Given the description of an element on the screen output the (x, y) to click on. 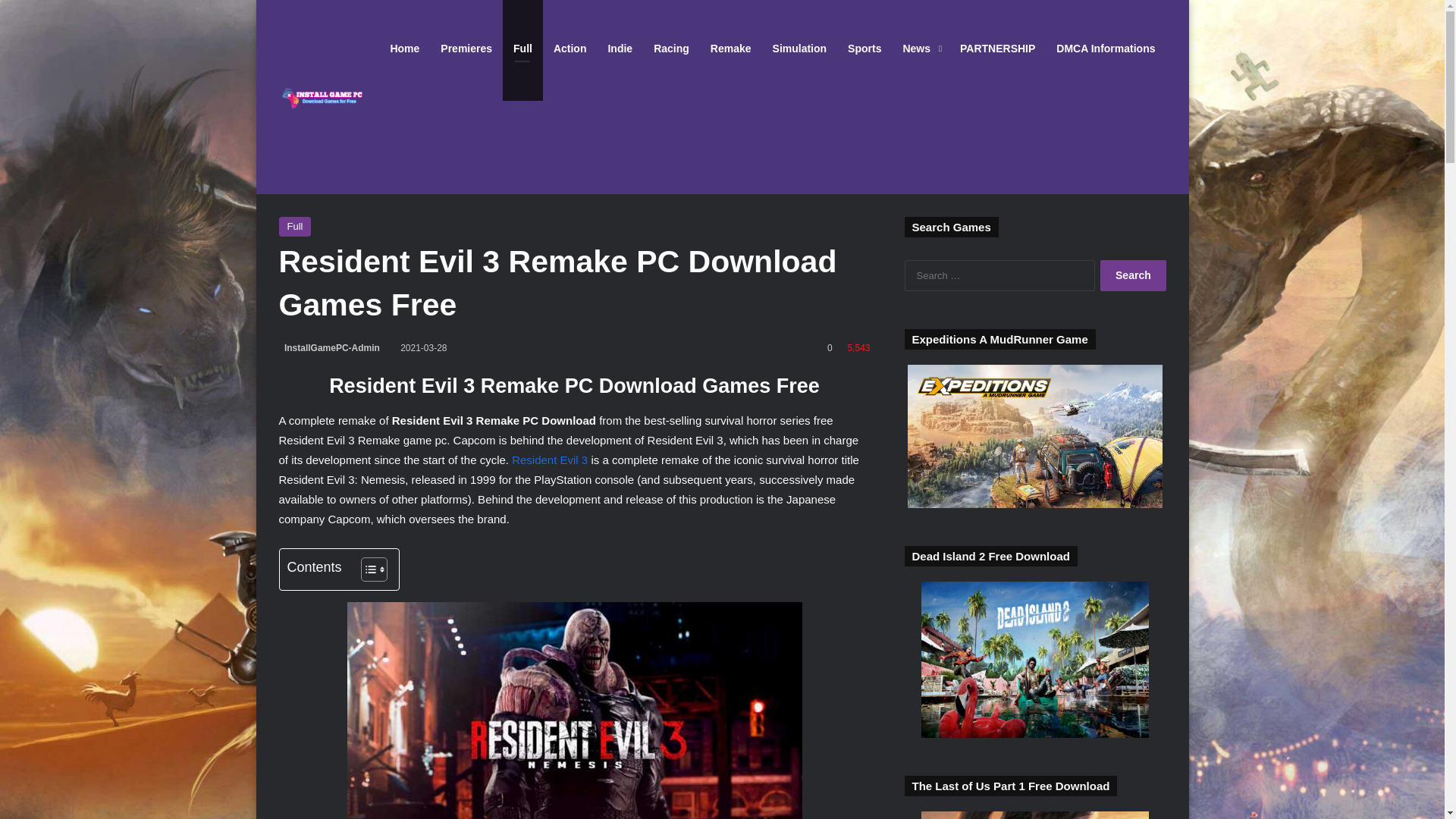
InstallGamePC-Admin (329, 347)
InstallGamePC-Admin (329, 347)
PARTNERSHIP (997, 48)
DMCA Informations (1105, 48)
Resident Evil 3 (550, 459)
Full (295, 226)
Search (1133, 275)
Install Game PC - Download Games for Free (329, 96)
Search (1133, 275)
